Given the description of an element on the screen output the (x, y) to click on. 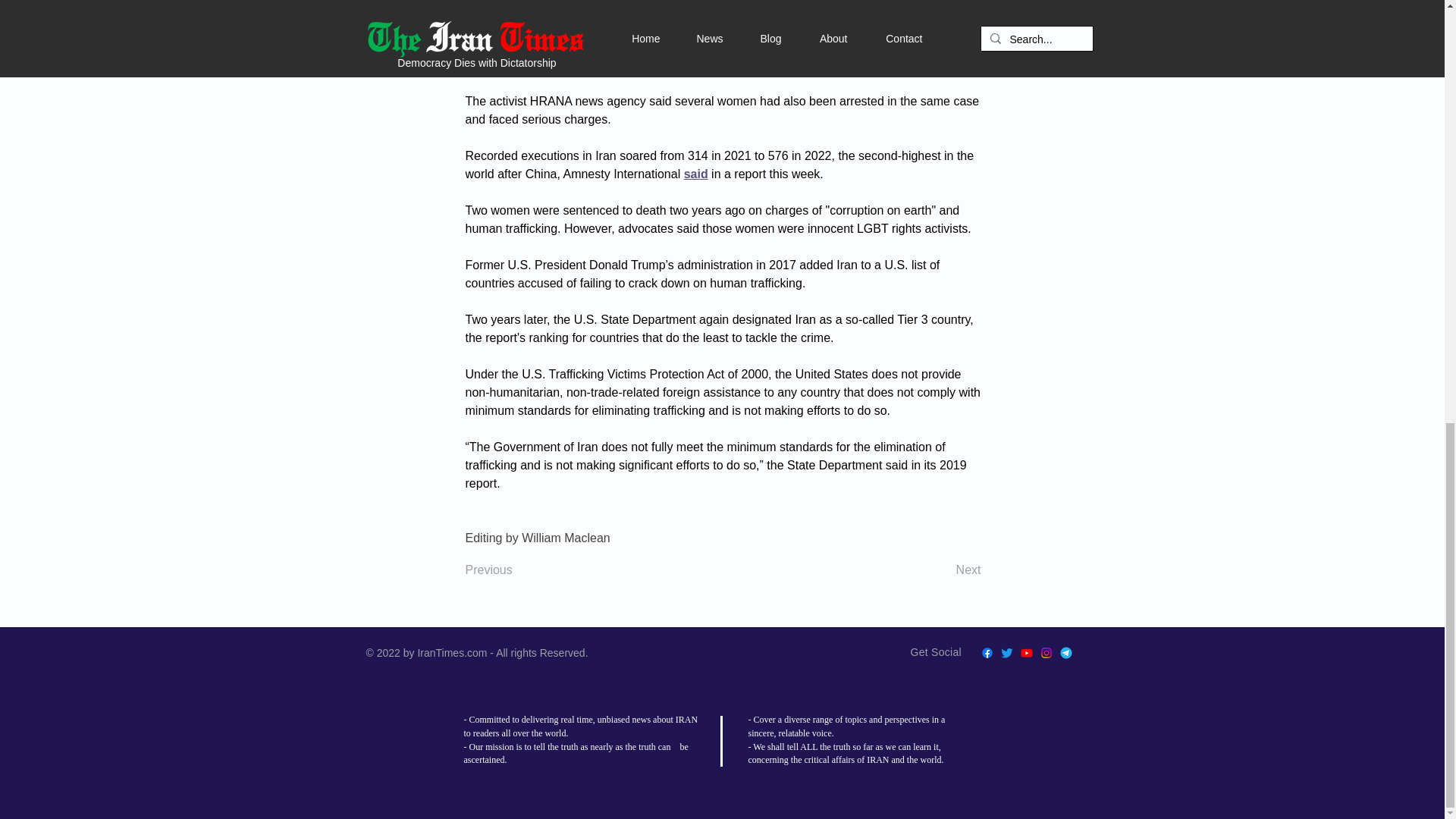
Previous (515, 570)
said (695, 173)
Next (943, 570)
